Given the description of an element on the screen output the (x, y) to click on. 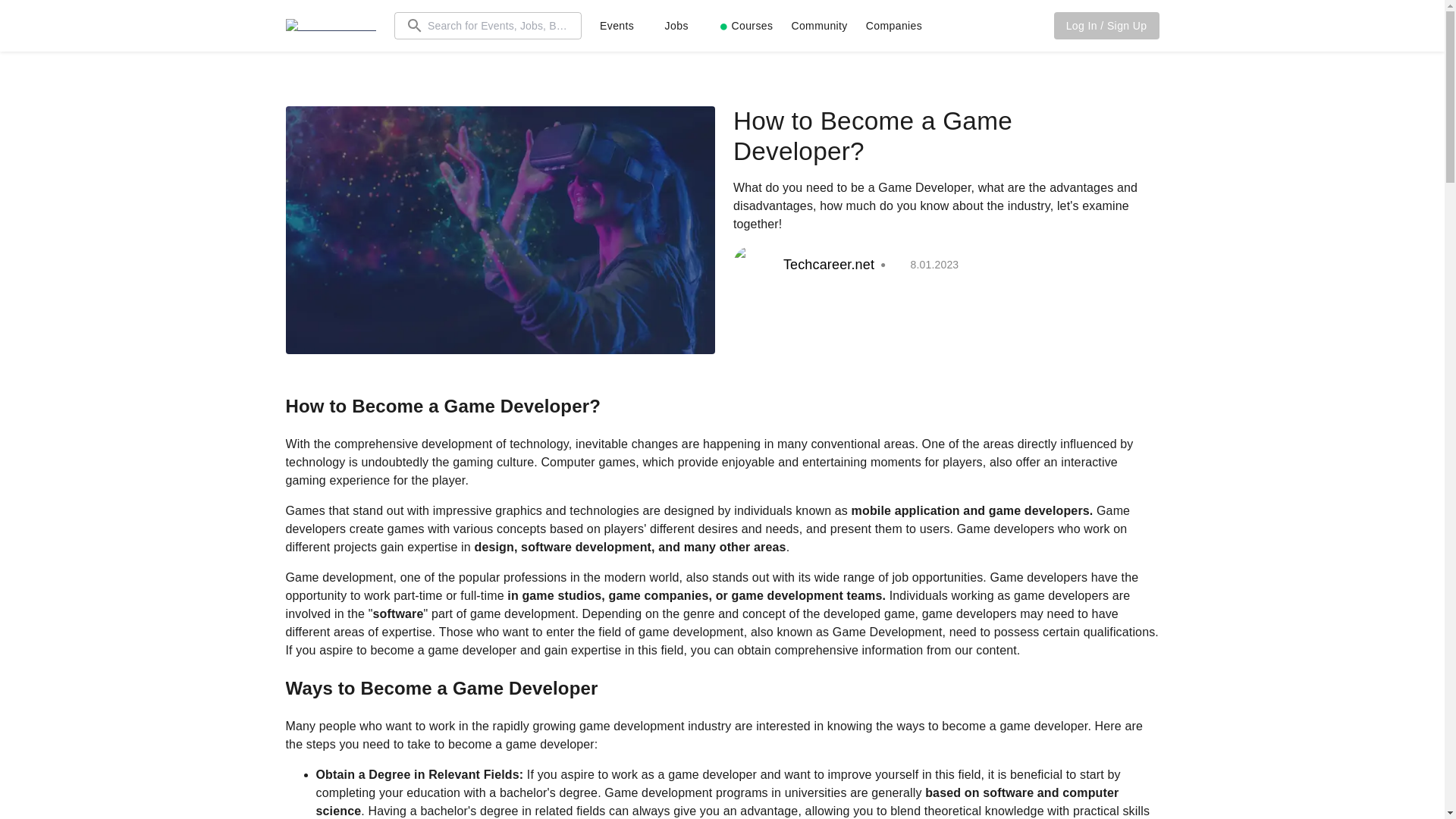
Companies (893, 25)
Events (616, 25)
Community (818, 25)
Techcareer.net (804, 264)
Jobs (676, 25)
